Given the description of an element on the screen output the (x, y) to click on. 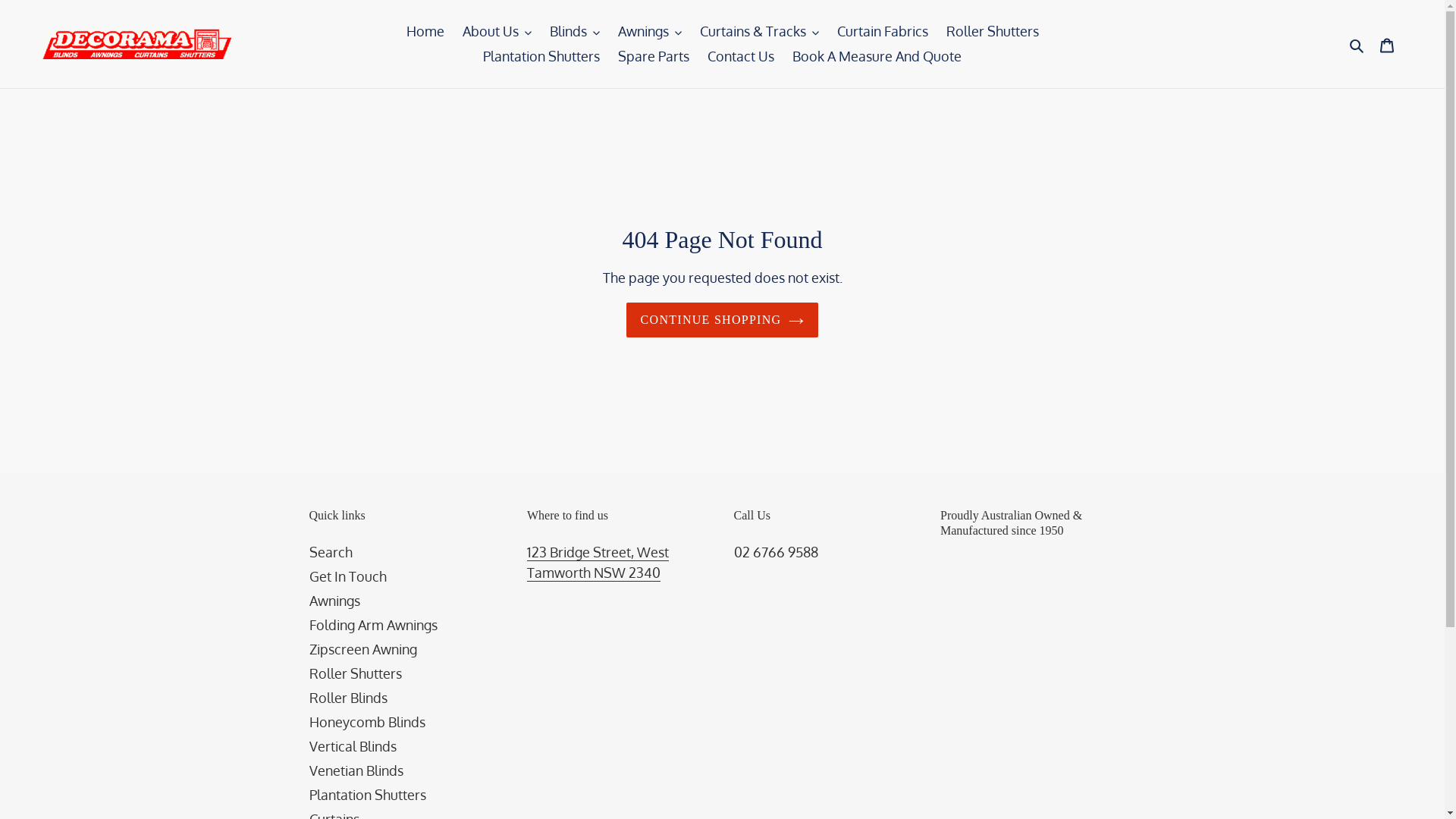
123 Bridge Street, West Tamworth NSW 2340 Element type: text (597, 562)
Contact Us Element type: text (740, 56)
Plantation Shutters Element type: text (541, 56)
Book A Measure And Quote Element type: text (876, 56)
Curtain Fabrics Element type: text (882, 30)
Roller Shutters Element type: text (992, 30)
Search Element type: text (1357, 44)
Curtains & Tracks Element type: text (758, 30)
Honeycomb Blinds Element type: text (367, 721)
Blinds Element type: text (573, 30)
Home Element type: text (424, 30)
Awnings Element type: text (334, 600)
Get In Touch Element type: text (347, 575)
Vertical Blinds Element type: text (352, 745)
Roller Blinds Element type: text (348, 697)
Venetian Blinds Element type: text (356, 770)
Cart Element type: text (1386, 43)
Plantation Shutters Element type: text (367, 794)
Search Element type: text (330, 551)
Roller Shutters Element type: text (355, 673)
Zipscreen Awning Element type: text (363, 648)
CONTINUE SHOPPING Element type: text (722, 319)
Spare Parts Element type: text (653, 56)
About Us Element type: text (497, 30)
Awnings Element type: text (648, 30)
Folding Arm Awnings Element type: text (373, 624)
